Given the description of an element on the screen output the (x, y) to click on. 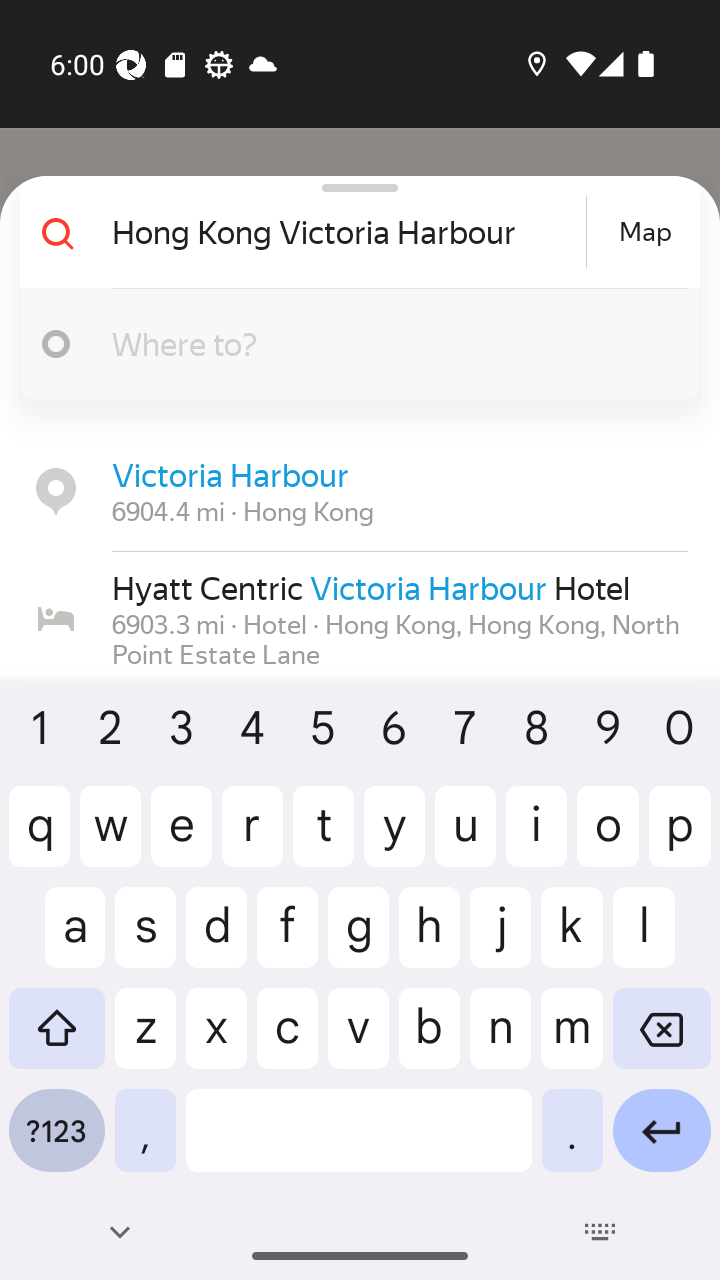
Hong Kong Victoria Harbour Map Map (352, 232)
Map (645, 232)
Hong Kong Victoria Harbour (346, 232)
Where to? (352, 343)
Where to? (390, 343)
